Given the description of an element on the screen output the (x, y) to click on. 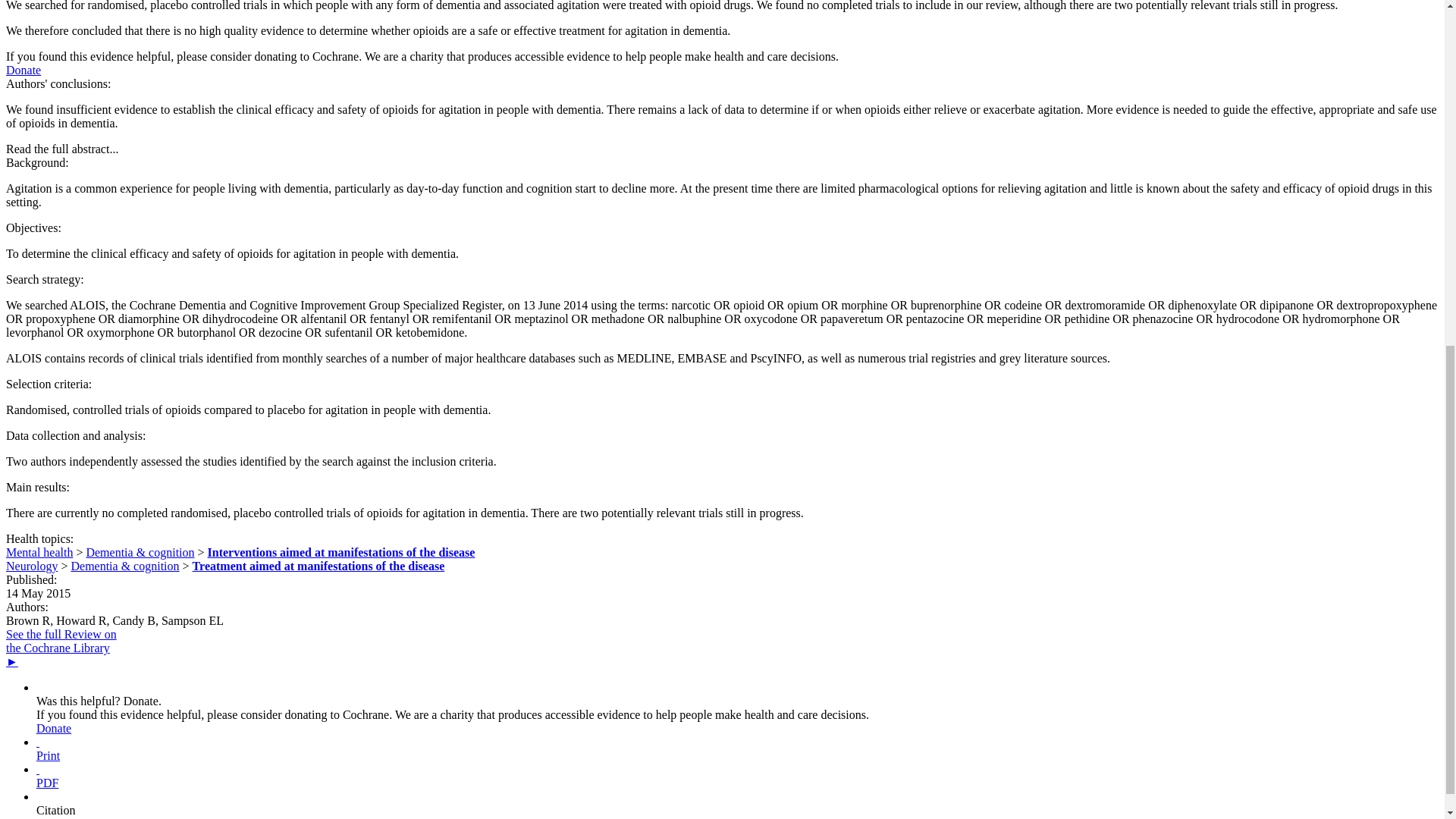
Donate (53, 727)
Mental health (38, 552)
Neurology (31, 565)
Donate (22, 69)
Interventions aimed at manifestations of the disease (342, 552)
Treatment aimed at manifestations of the disease (318, 565)
